Given the description of an element on the screen output the (x, y) to click on. 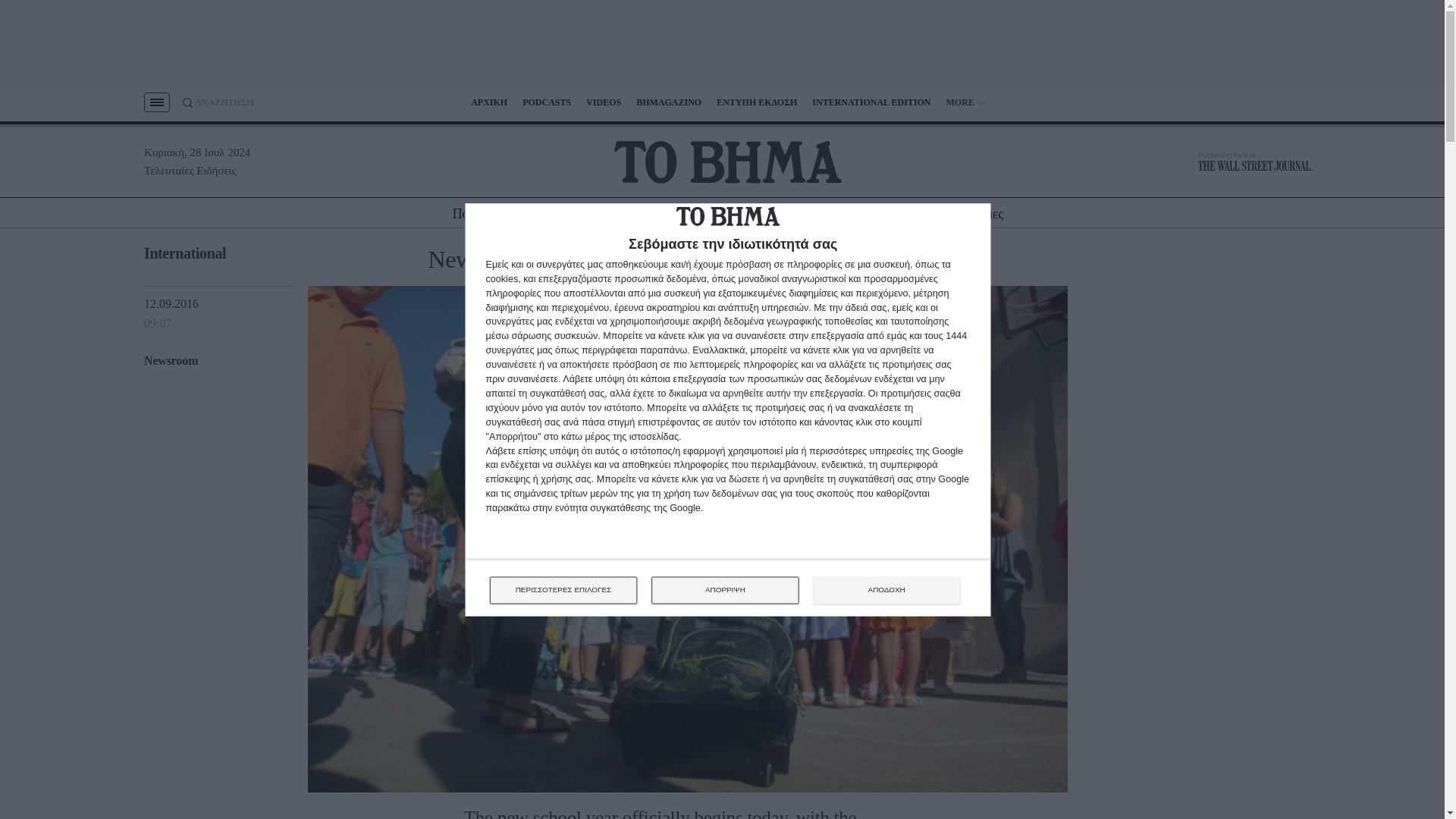
PODCASTS (546, 102)
BHMAGAZINO (668, 102)
Science (921, 213)
INTERNATIONAL EDITION (871, 102)
VIDEOS (603, 102)
